Given the description of an element on the screen output the (x, y) to click on. 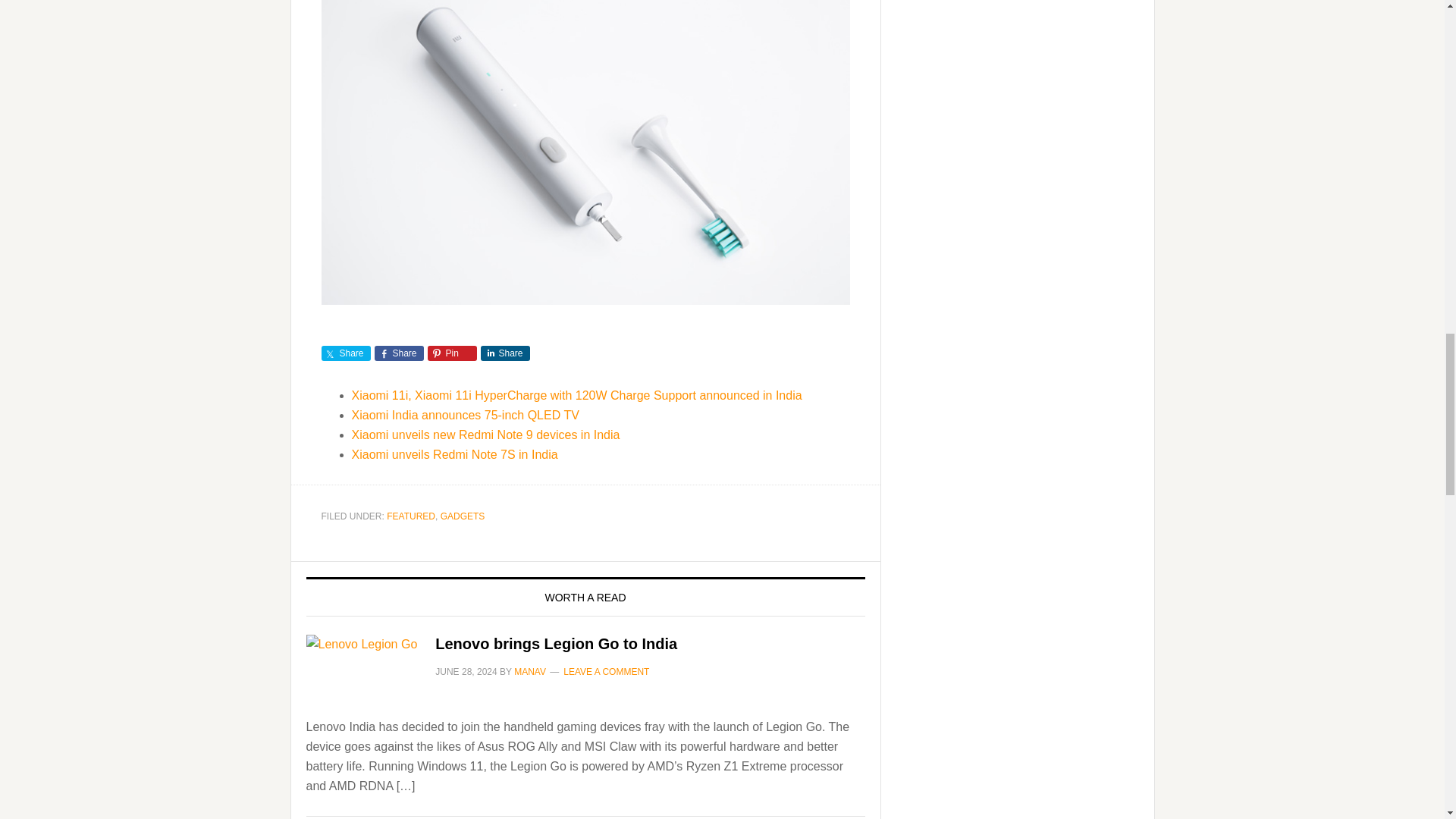
Xiaomi India announces 75-inch QLED TV (465, 414)
Pin (452, 353)
FEATURED (411, 516)
Share (398, 353)
Xiaomi unveils Redmi Note 7S in India (454, 454)
Xiaomi unveils new Redmi Note 9 devices in India (486, 434)
Xiaomi unveils Redmi Note 7S in India (454, 454)
Xiaomi unveils new Redmi Note 9 devices in India (486, 434)
Xiaomi India announces 75-inch QLED TV (465, 414)
GADGETS (462, 516)
Share (504, 353)
Share (346, 353)
